Given the description of an element on the screen output the (x, y) to click on. 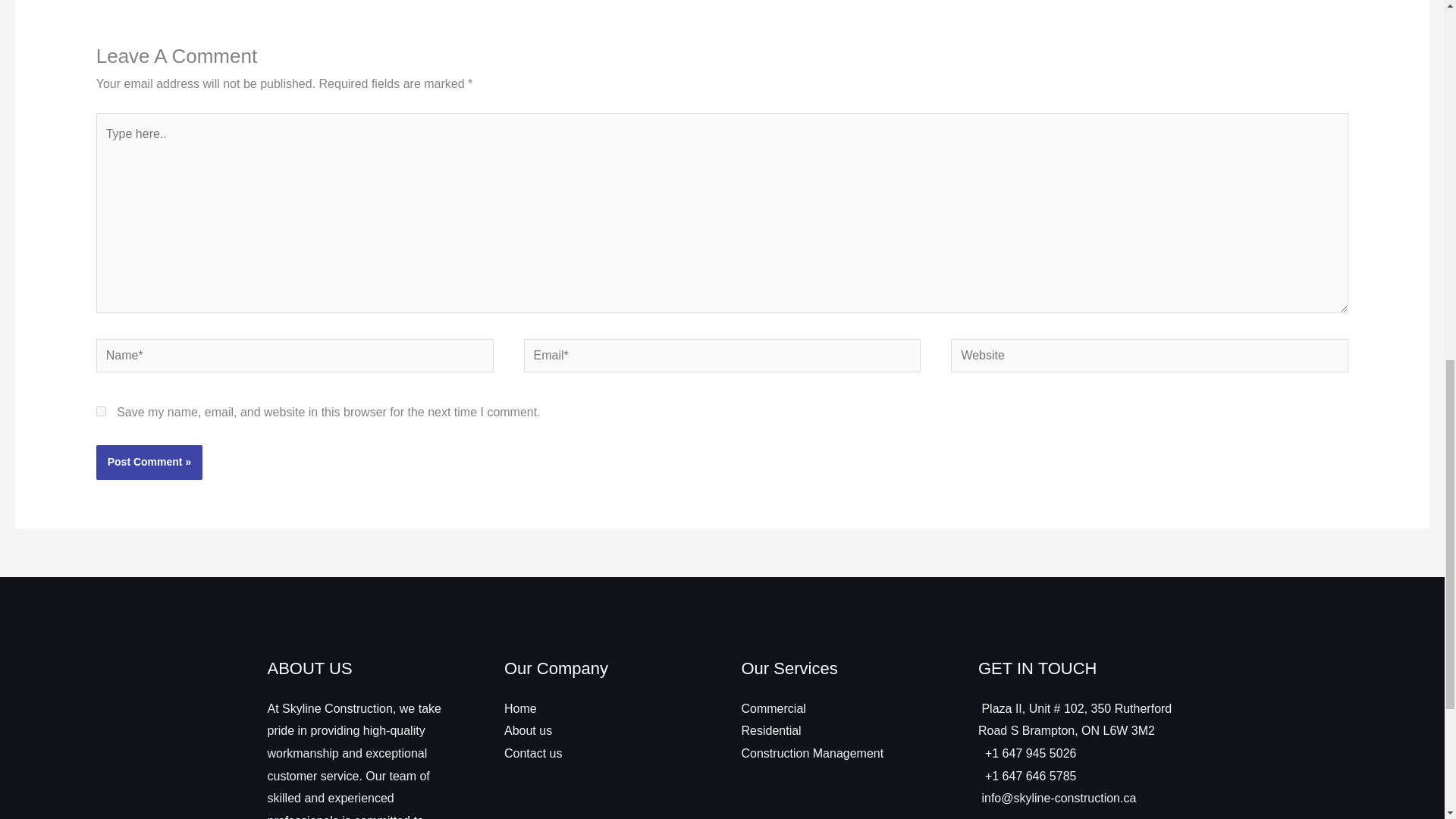
Residential (771, 730)
Home (520, 707)
Construction Management (812, 753)
Contact us (532, 753)
About us (527, 730)
Commercial (773, 707)
yes (101, 411)
